Given the description of an element on the screen output the (x, y) to click on. 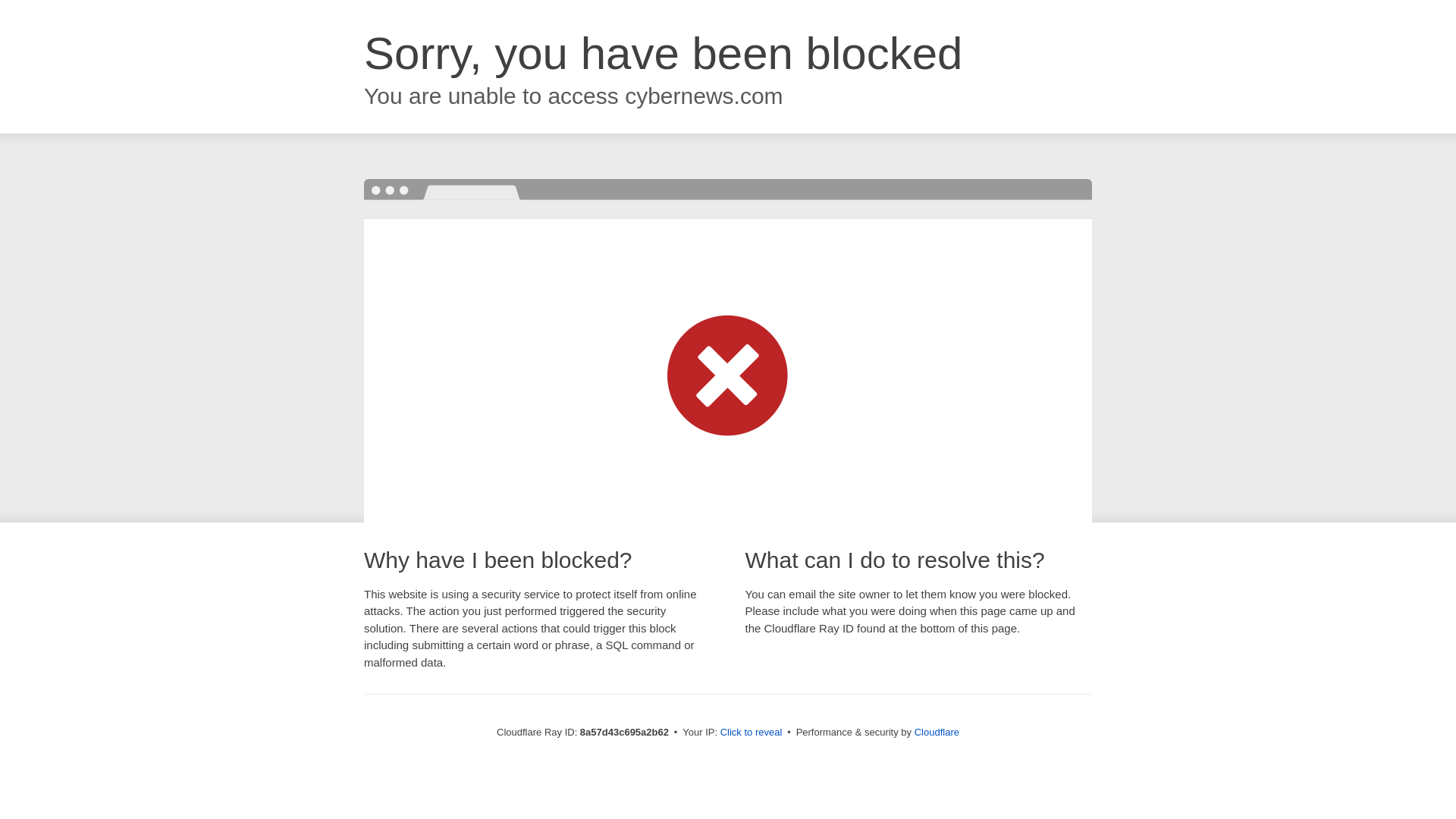
Click to reveal (751, 732)
Cloudflare (936, 731)
